Given the description of an element on the screen output the (x, y) to click on. 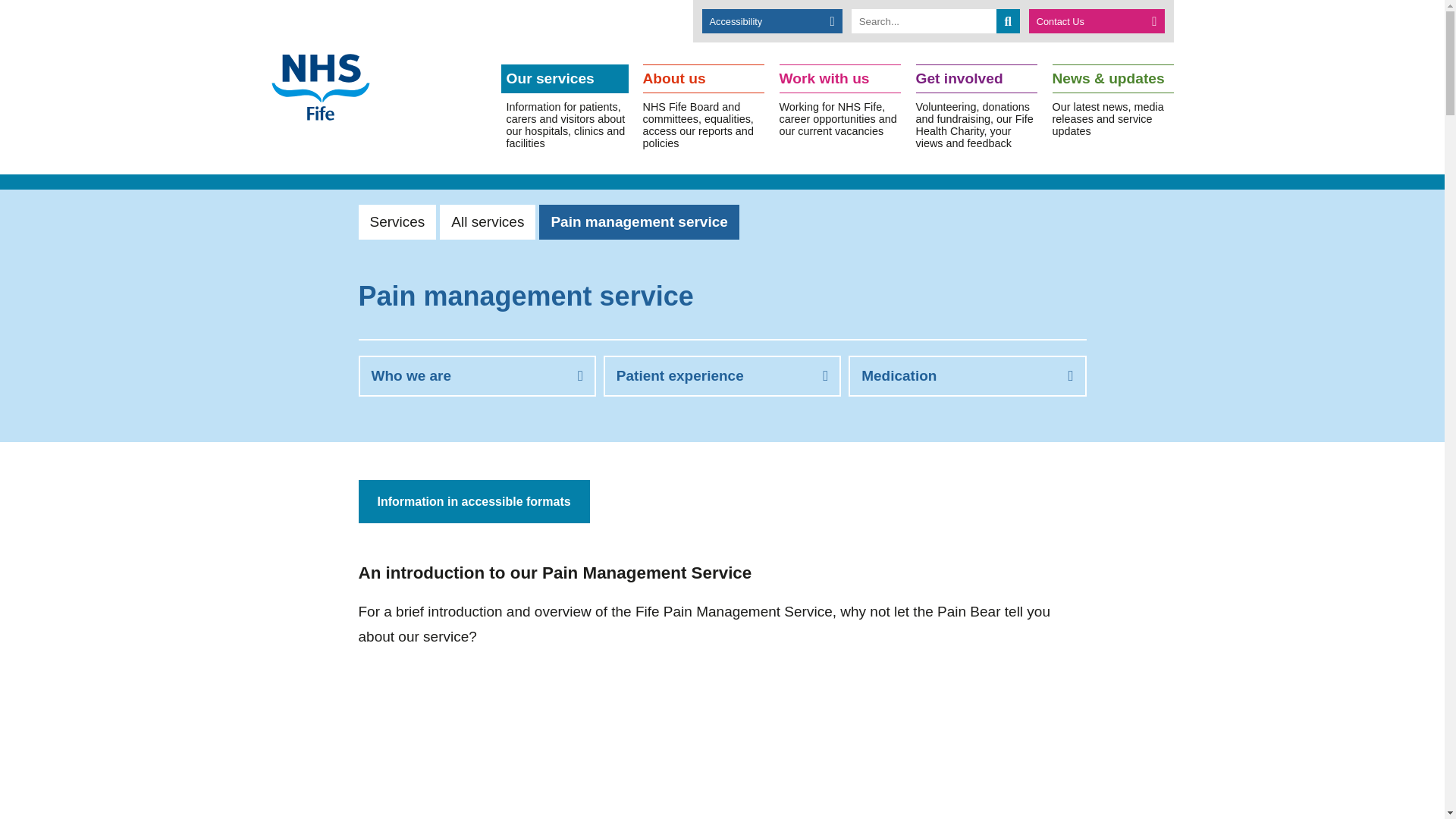
Services (396, 221)
All services (487, 221)
Information in accessible formats (473, 501)
Patient experience (722, 375)
Medication (967, 375)
Accessibility (772, 21)
Contact Us (1096, 21)
Who we are (476, 375)
